Given the description of an element on the screen output the (x, y) to click on. 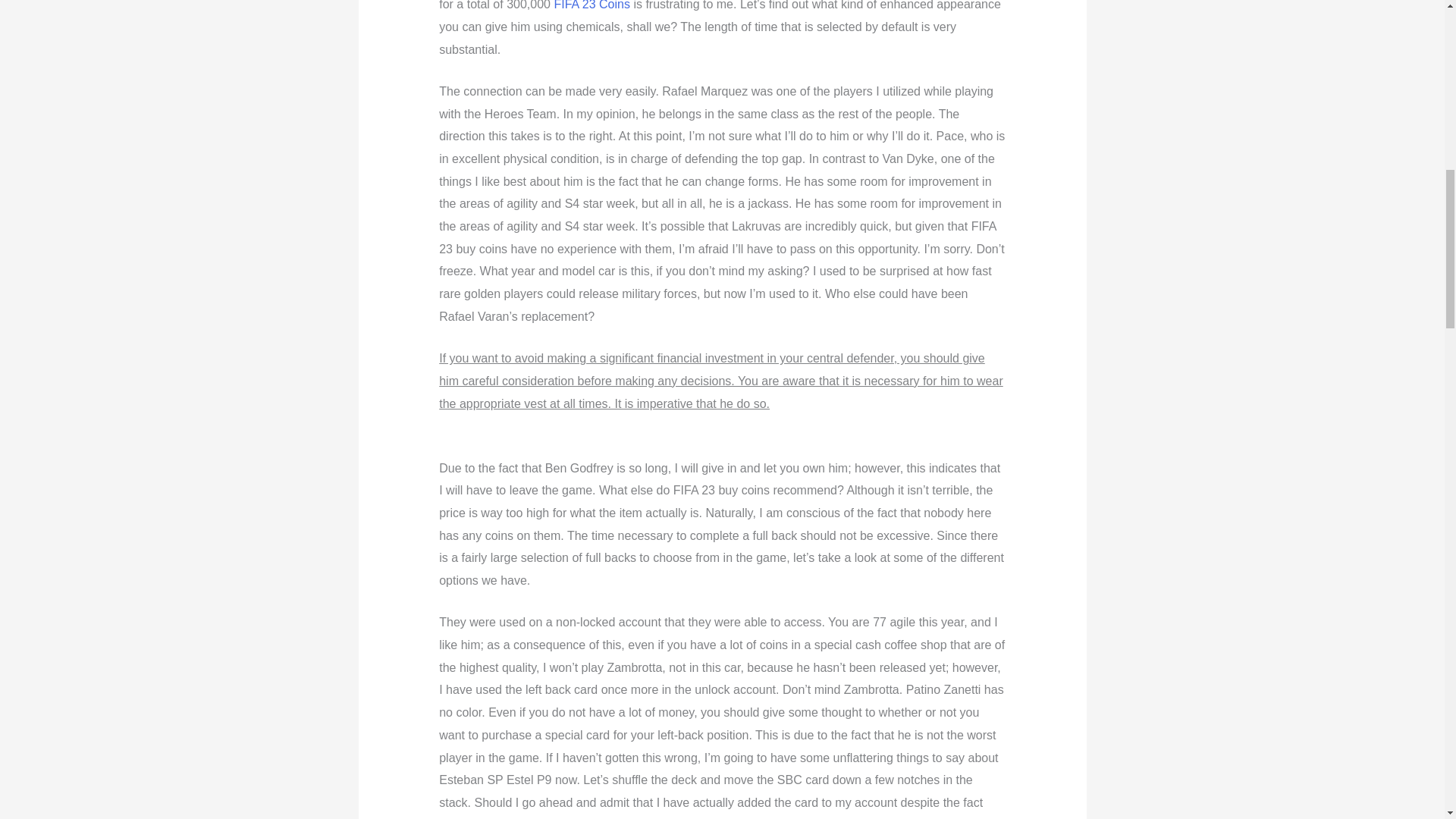
FIFA 23 Coins (591, 5)
